Given the description of an element on the screen output the (x, y) to click on. 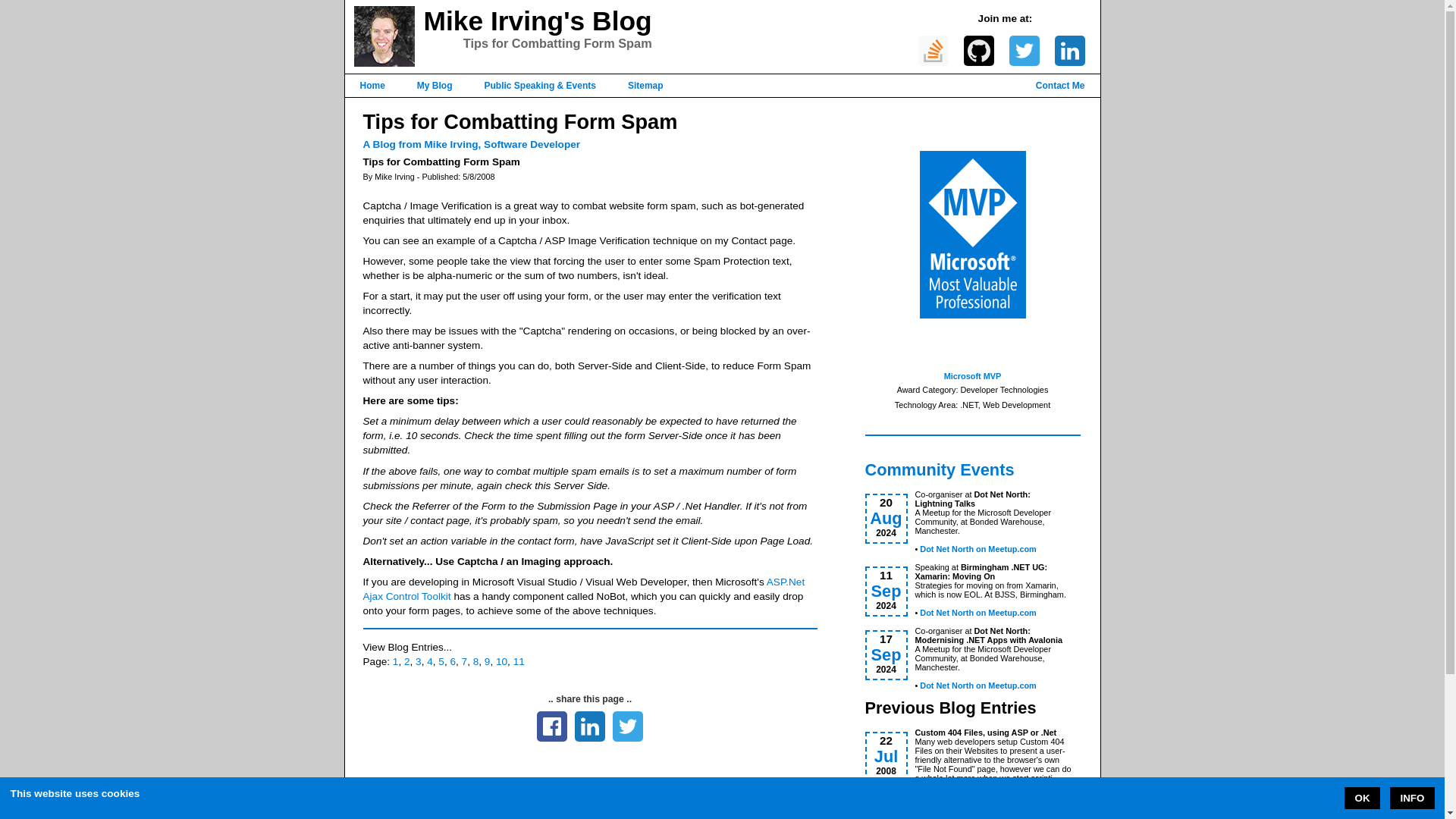
Mike Irving on Stack Overflow (932, 51)
Mike Irving on Twitter (1024, 51)
Mike Irving Apps on GitHub (977, 51)
Share on Facebook (552, 726)
Contact Me (1067, 85)
Website Sitemap (645, 85)
Home (371, 85)
My Blog (434, 85)
Developer Blog (434, 85)
OK (1361, 797)
